Given the description of an element on the screen output the (x, y) to click on. 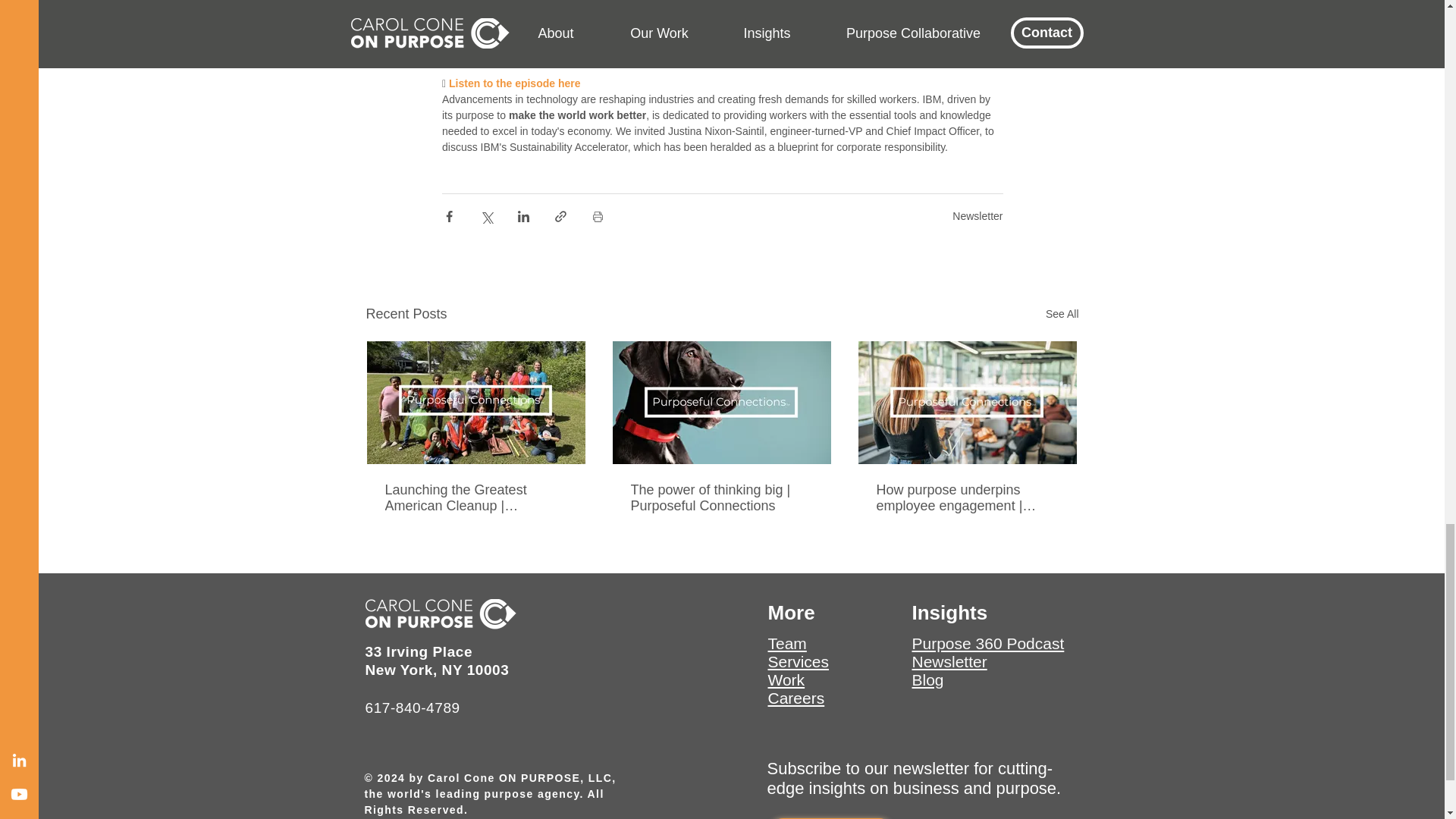
Listen to the episode here (513, 82)
Newsletter (977, 215)
See All (1061, 314)
